Given the description of an element on the screen output the (x, y) to click on. 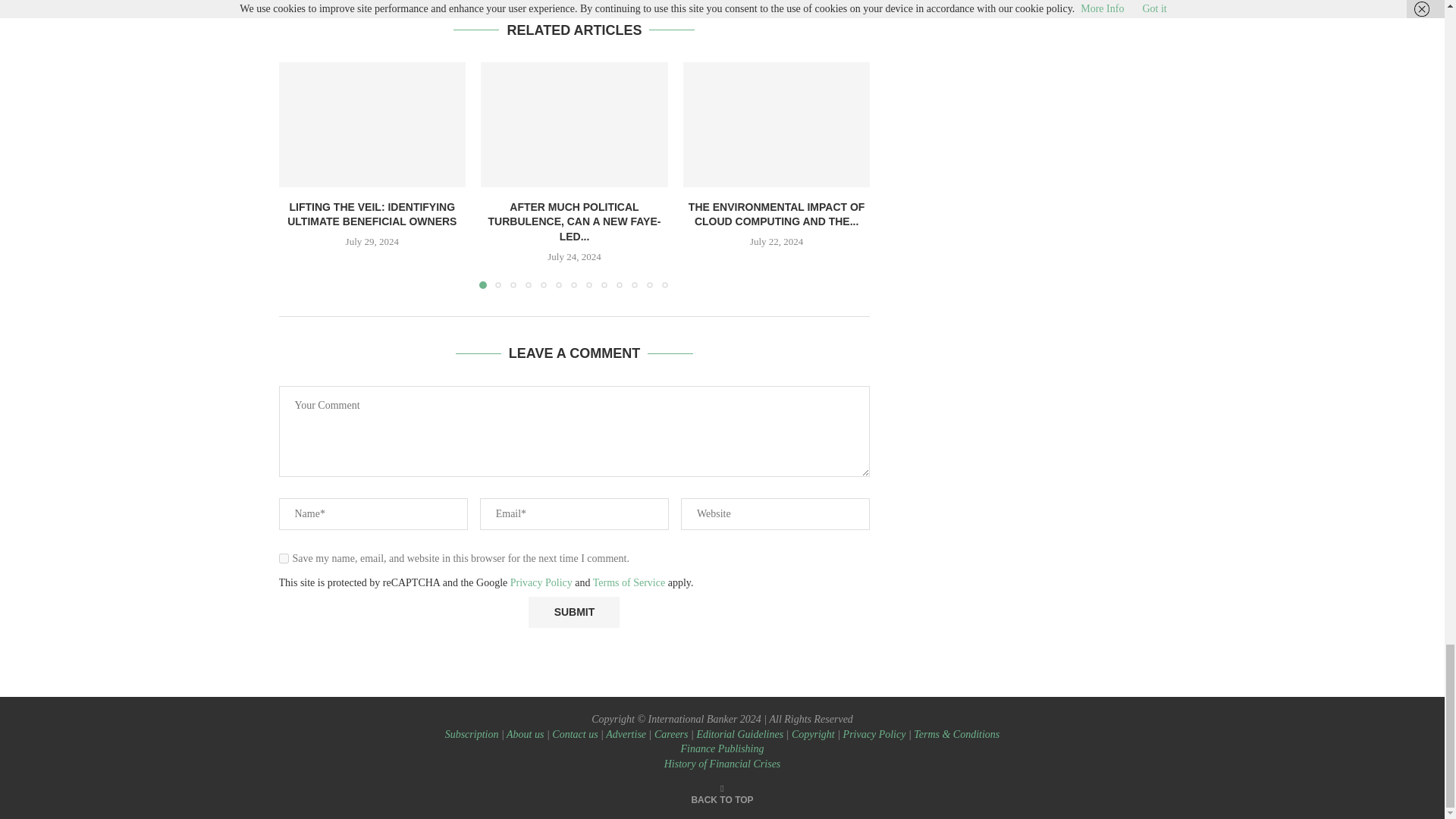
Lifting the Veil: Identifying Ultimate Beneficial Owners (372, 124)
yes (283, 558)
Submit (574, 612)
